Given the description of an element on the screen output the (x, y) to click on. 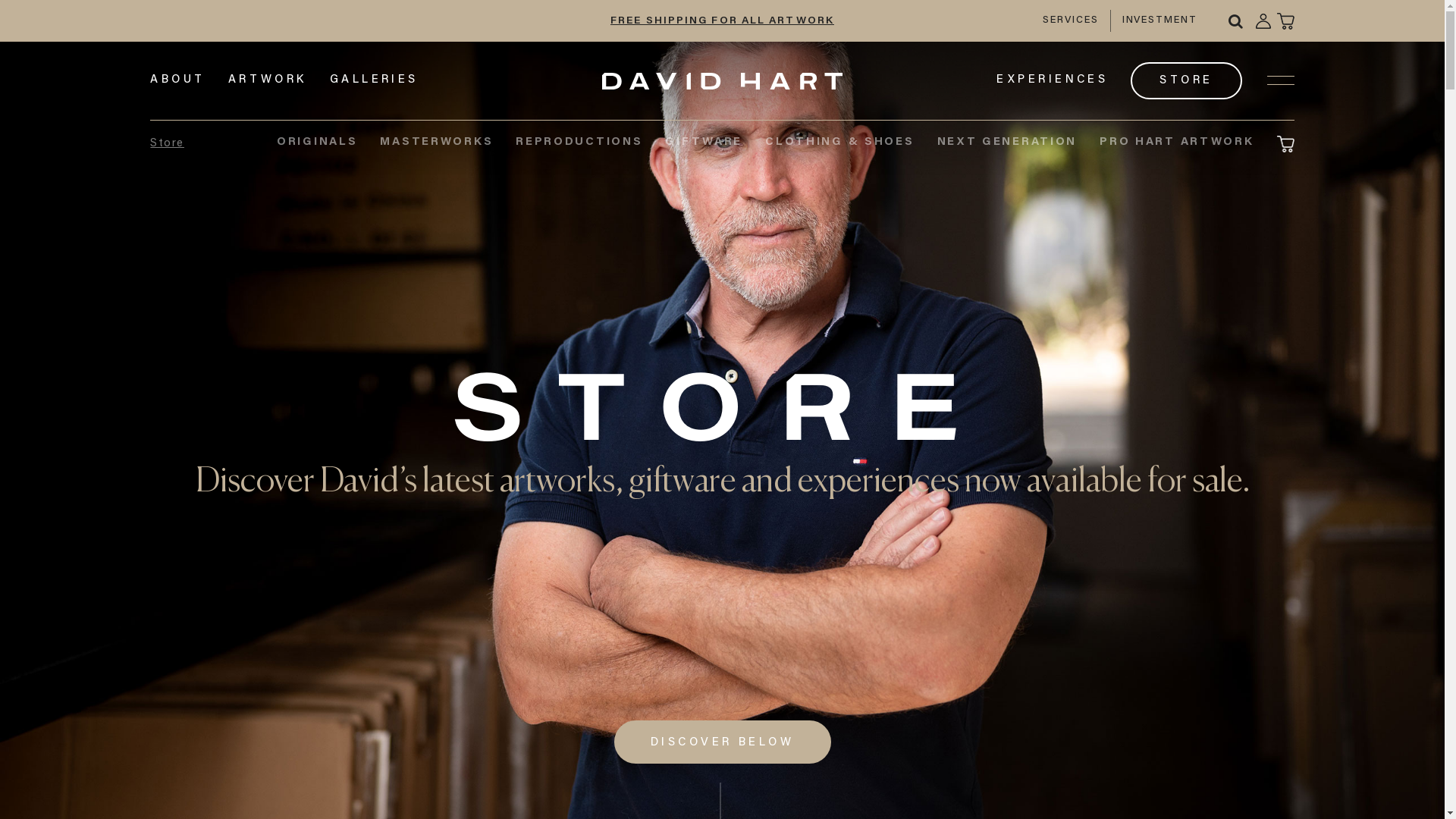
SERVICES Element type: text (1070, 20)
ABOUT Element type: text (177, 80)
ARTWORK Element type: text (267, 80)
CLOTHING & SHOES Element type: text (839, 143)
MASTERWORKS Element type: text (435, 143)
DISCOVER BELOW Element type: text (722, 741)
ORIGINALS Element type: text (316, 143)
INVESTMENT Element type: text (1160, 20)
REPRODUCTIONS Element type: text (578, 143)
EXPERIENCES Element type: text (1051, 80)
GALLERIES Element type: text (373, 80)
GIFTWARE Element type: text (703, 143)
My Basket Element type: hover (1285, 20)
FREE SHIPPING FOR ALL ARTWORK Element type: text (722, 20)
NEXT GENERATION Element type: text (1007, 143)
PRO HART ARTWORK Element type: text (1176, 143)
Search Element type: hover (1236, 20)
STORE Element type: text (1185, 80)
